Given the description of an element on the screen output the (x, y) to click on. 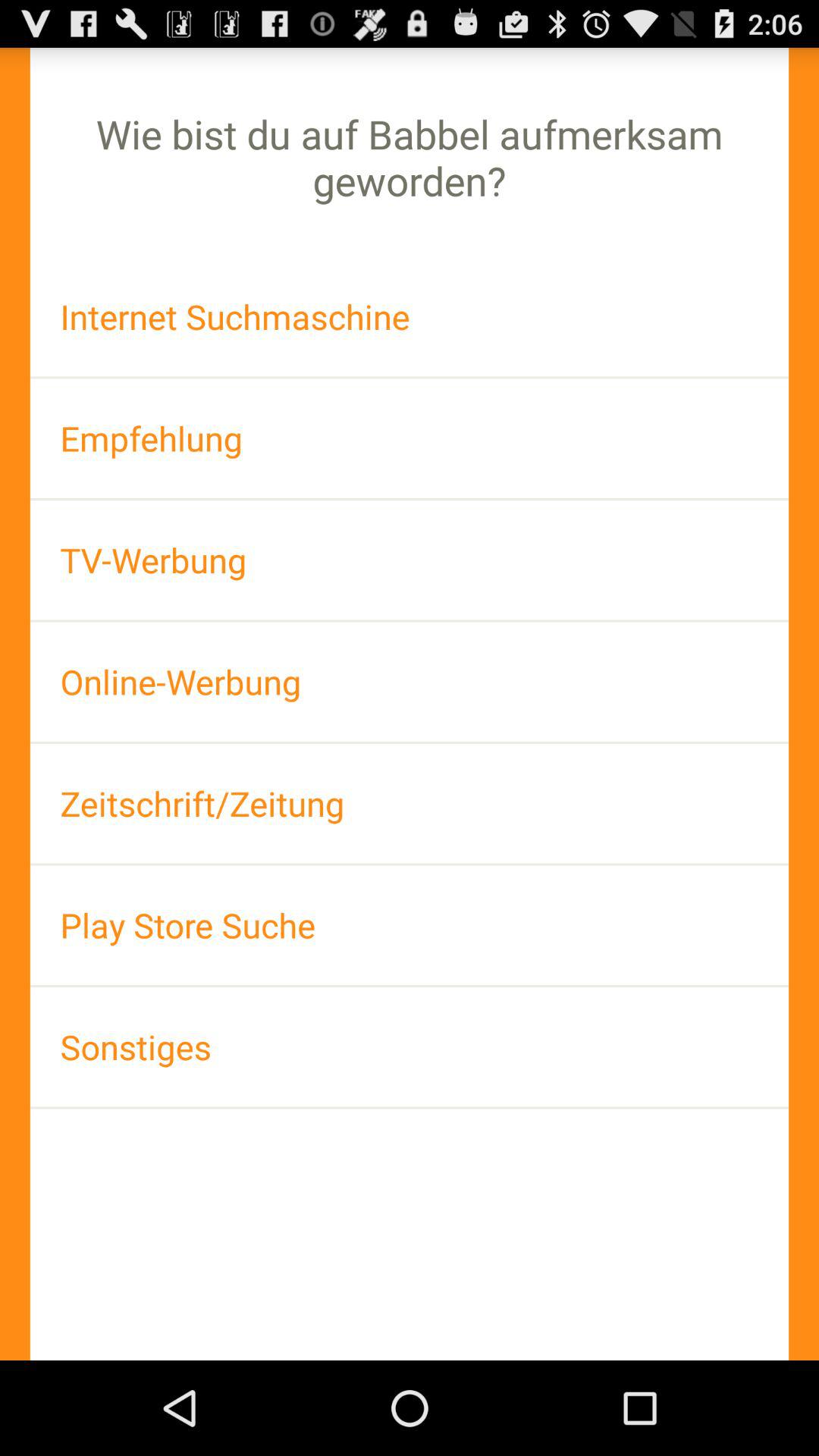
press item above the play store suche item (409, 803)
